Given the description of an element on the screen output the (x, y) to click on. 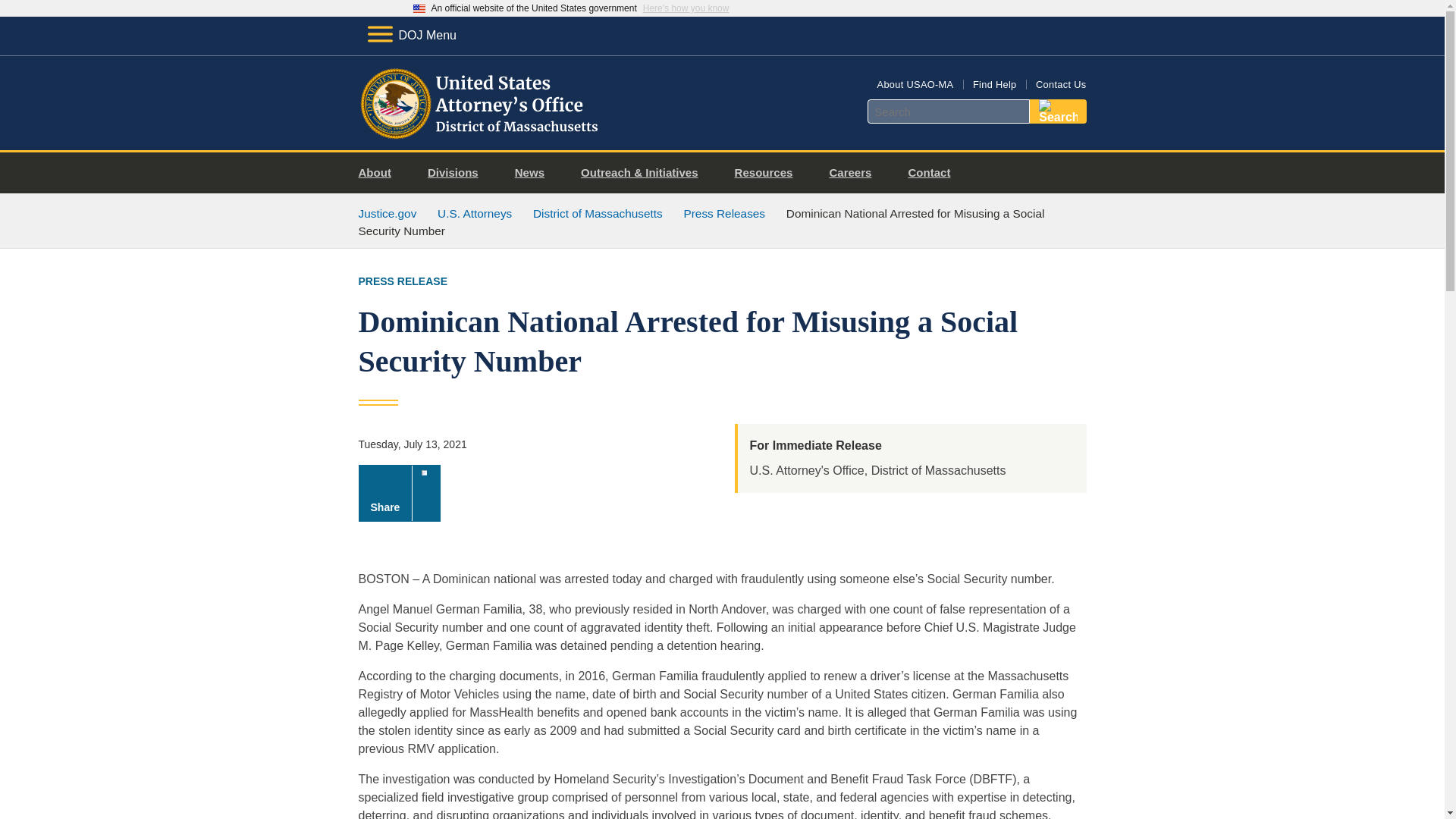
District of Massachusetts (597, 213)
Divisions (458, 173)
DOJ Menu (411, 35)
Find Help (994, 84)
Here's how you know (686, 8)
Justice.gov (387, 213)
News (535, 173)
Press Releases (723, 213)
Careers (855, 173)
About (380, 173)
About USAO-MA (915, 84)
Resources (769, 173)
Contact Us (1060, 84)
U.S. Attorneys (475, 213)
Contact (934, 173)
